Given the description of an element on the screen output the (x, y) to click on. 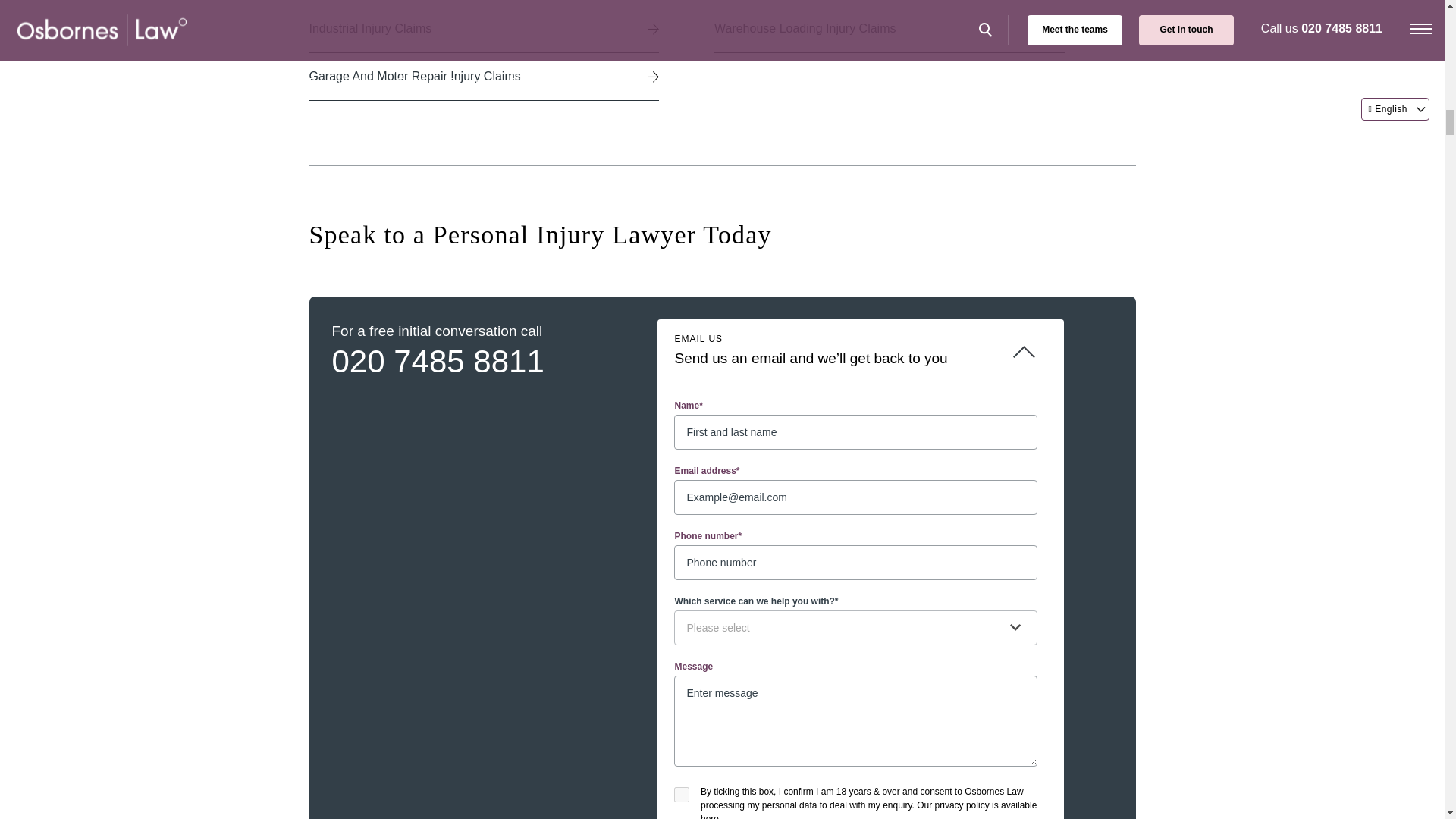
1 (681, 794)
